Given the description of an element on the screen output the (x, y) to click on. 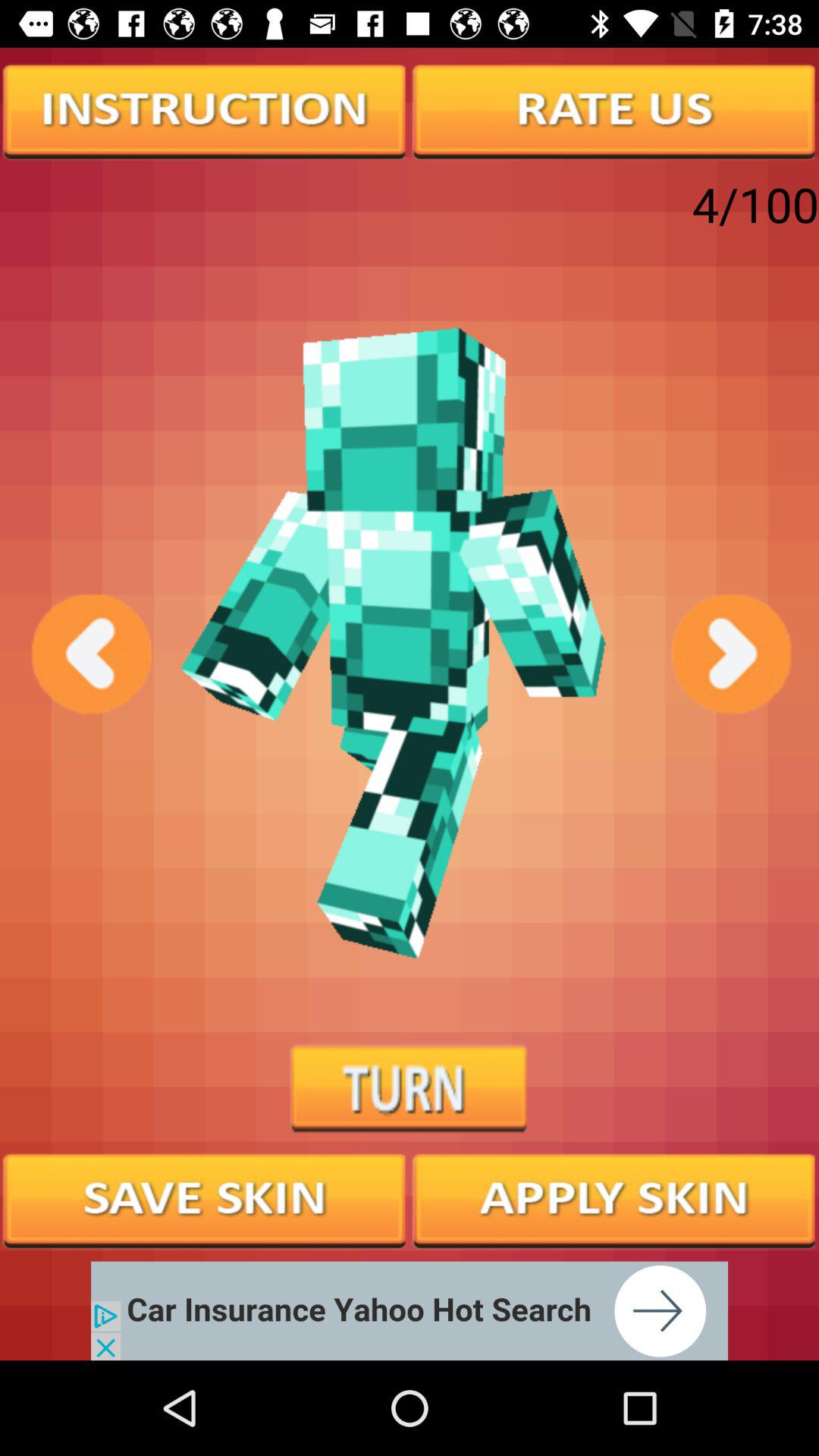
save skin (204, 1198)
